Given the description of an element on the screen output the (x, y) to click on. 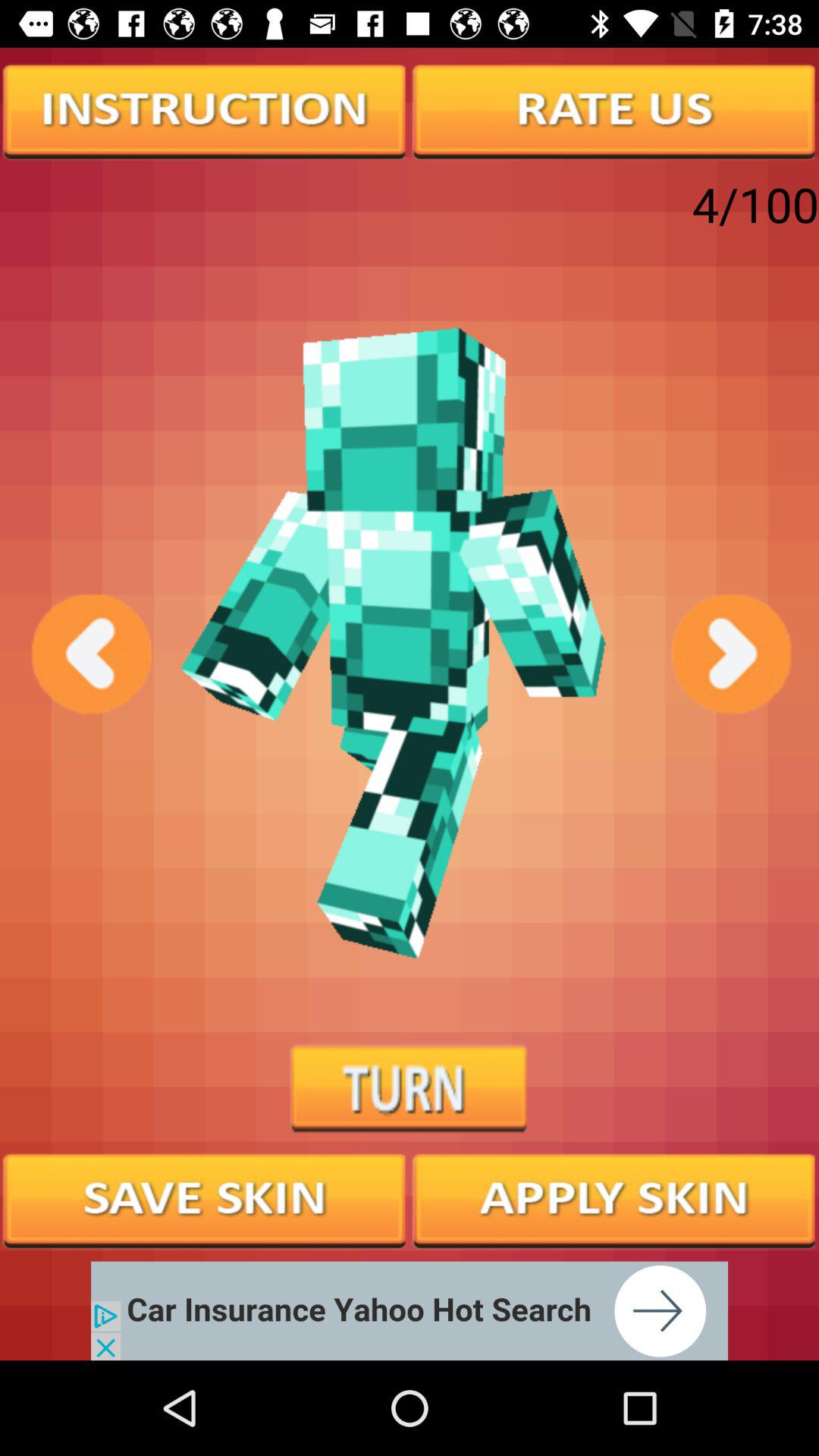
save skin (204, 1198)
